Given the description of an element on the screen output the (x, y) to click on. 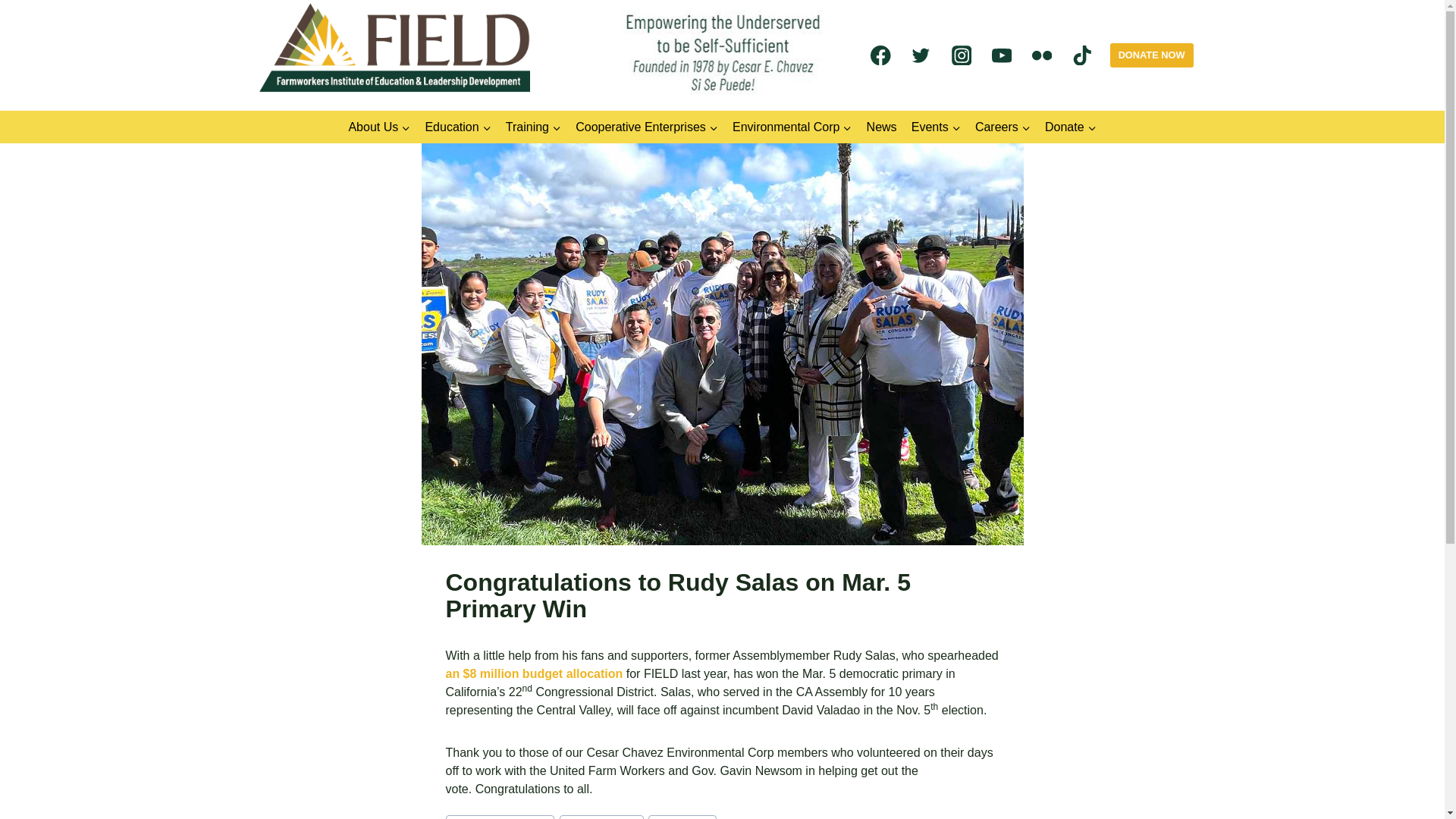
Environmental Corp (792, 126)
News (881, 126)
Education (457, 126)
Careers (1002, 126)
Training (532, 126)
Gavin Newsom (601, 816)
Rudy Salas (681, 816)
DONATE NOW (1151, 55)
About Us (378, 126)
Cooperative Enterprises (647, 126)
